Given the description of an element on the screen output the (x, y) to click on. 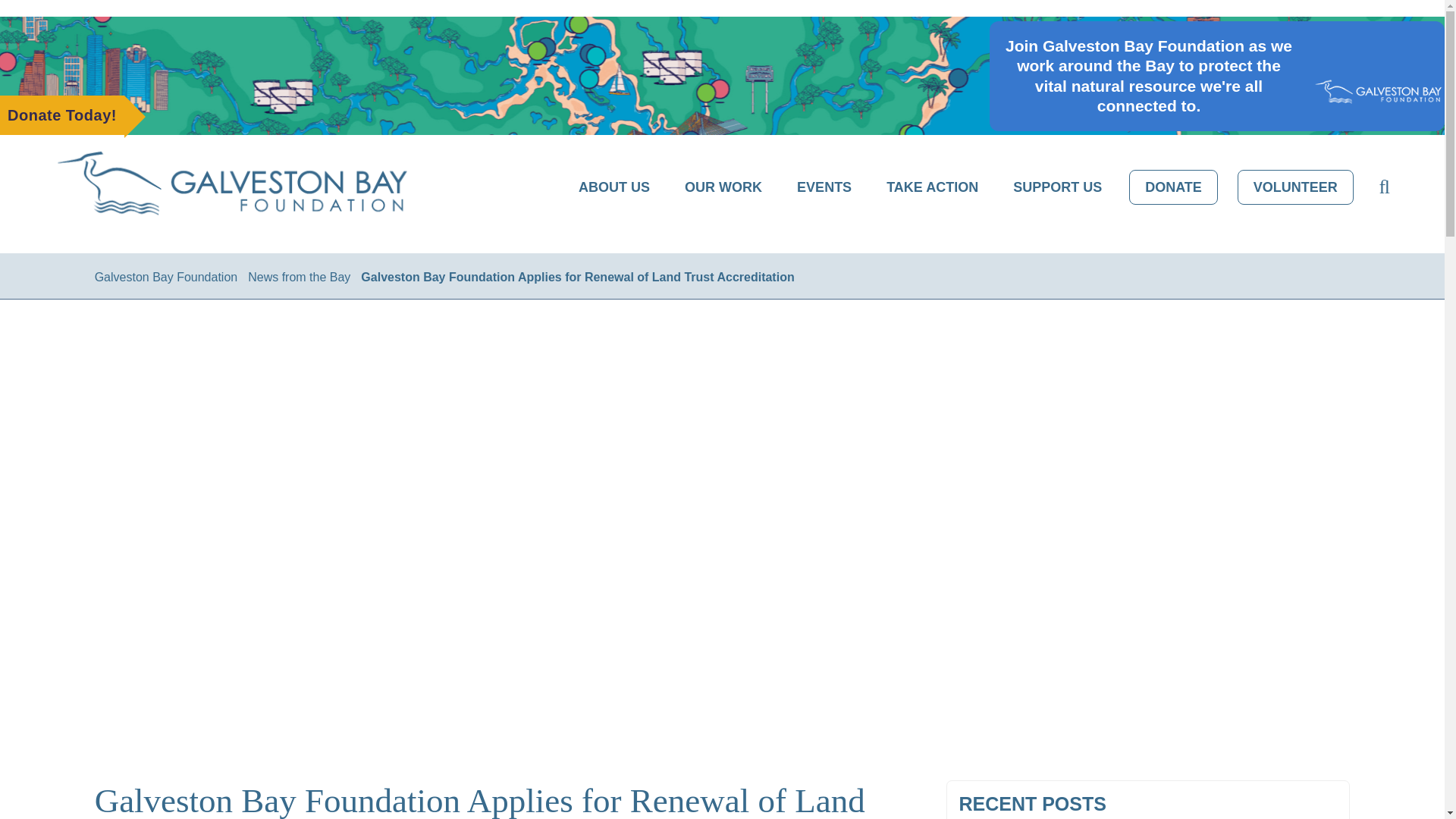
Donate Today! (61, 115)
Galveston Bay Foundation (166, 277)
OUR WORK (723, 188)
EVENTS (824, 188)
TAKE ACTION (932, 188)
ABOUT US (614, 188)
DONATE (1173, 186)
VOLUNTEER (1295, 186)
Go to News from the Bay. (298, 277)
SUPPORT US (1057, 188)
